Given the description of an element on the screen output the (x, y) to click on. 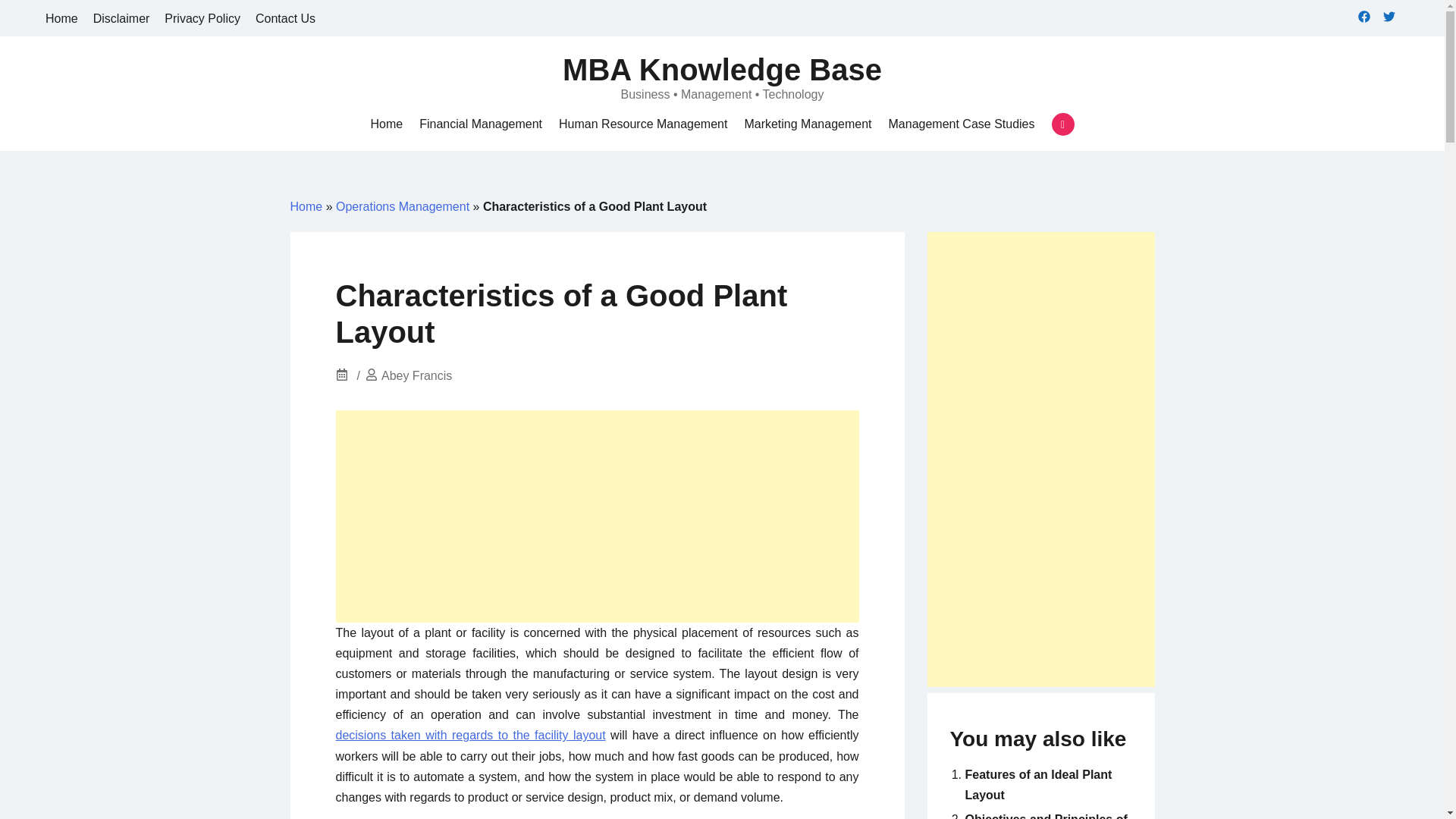
Privacy Policy (202, 18)
MBA Knowledge Base (722, 69)
Management Case Studies (961, 123)
Disclaimer (121, 18)
Financial Management (480, 123)
Contact Us (285, 18)
Home (61, 18)
Human Resource Management (642, 123)
Home (386, 123)
Abey Francis (416, 375)
